Given the description of an element on the screen output the (x, y) to click on. 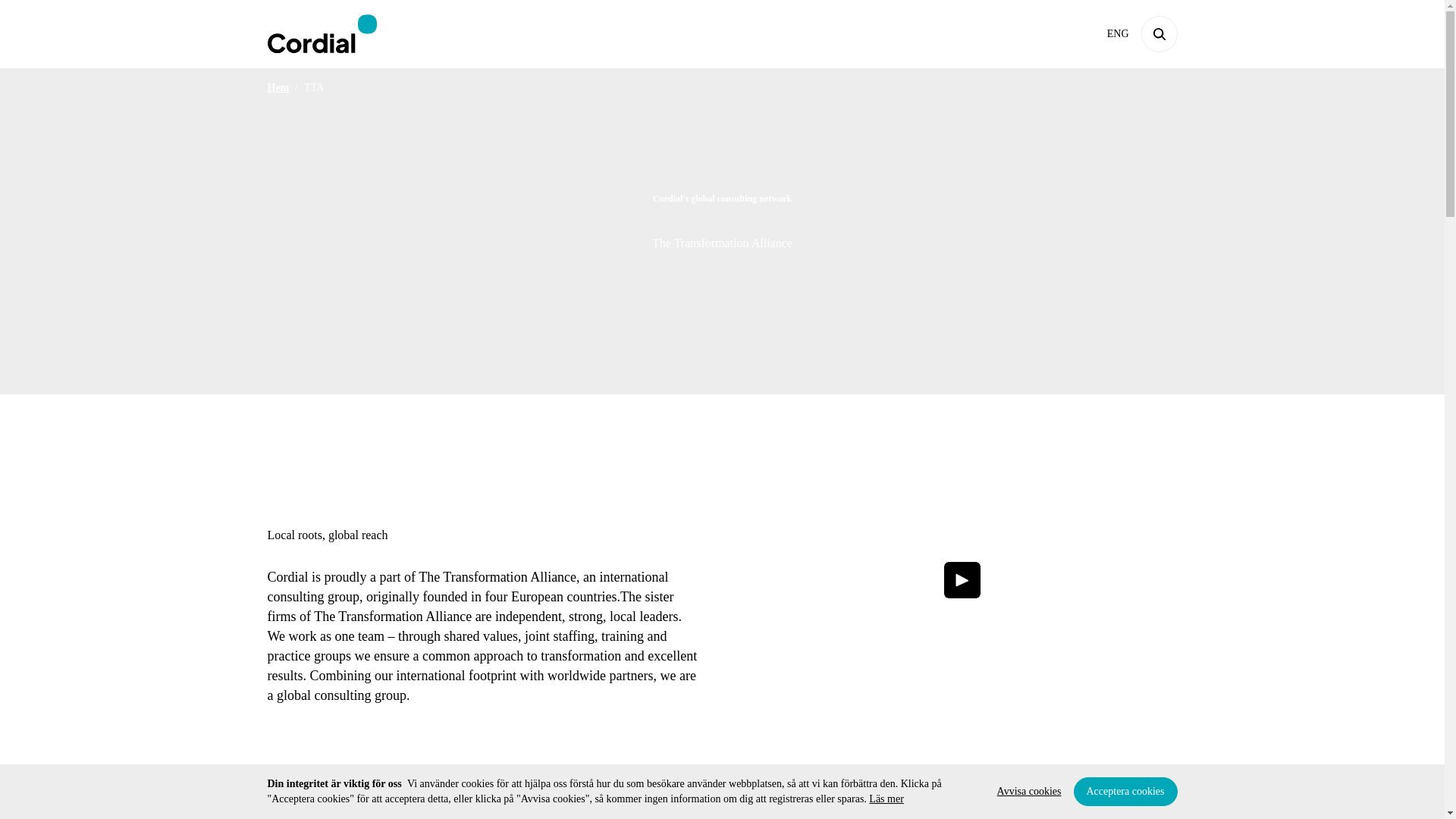
Hem (277, 87)
TTA (313, 87)
Acceptera cookies (1125, 791)
Avvisa cookies (1029, 791)
